Given the description of an element on the screen output the (x, y) to click on. 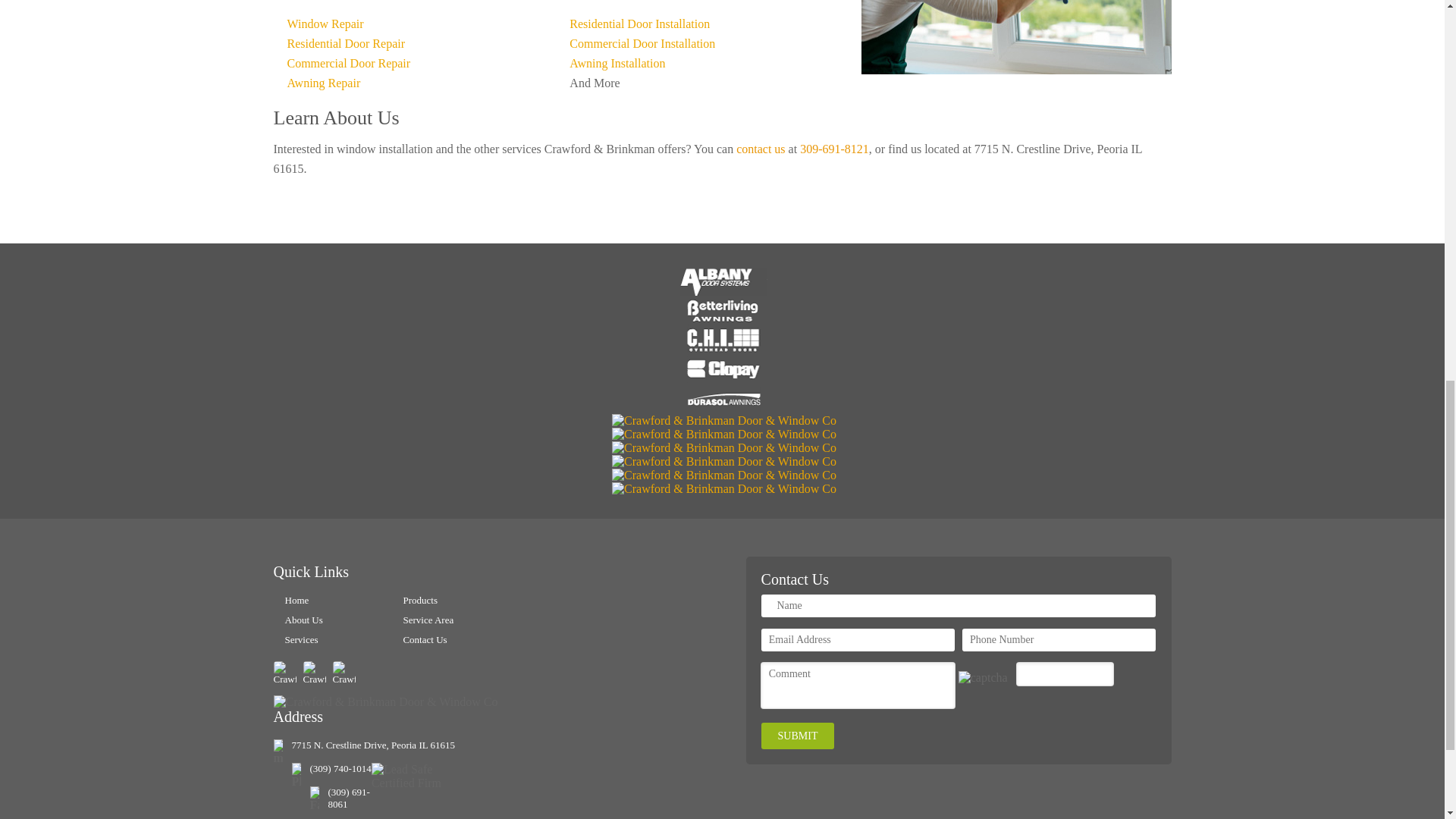
Submit (797, 735)
